Given the description of an element on the screen output the (x, y) to click on. 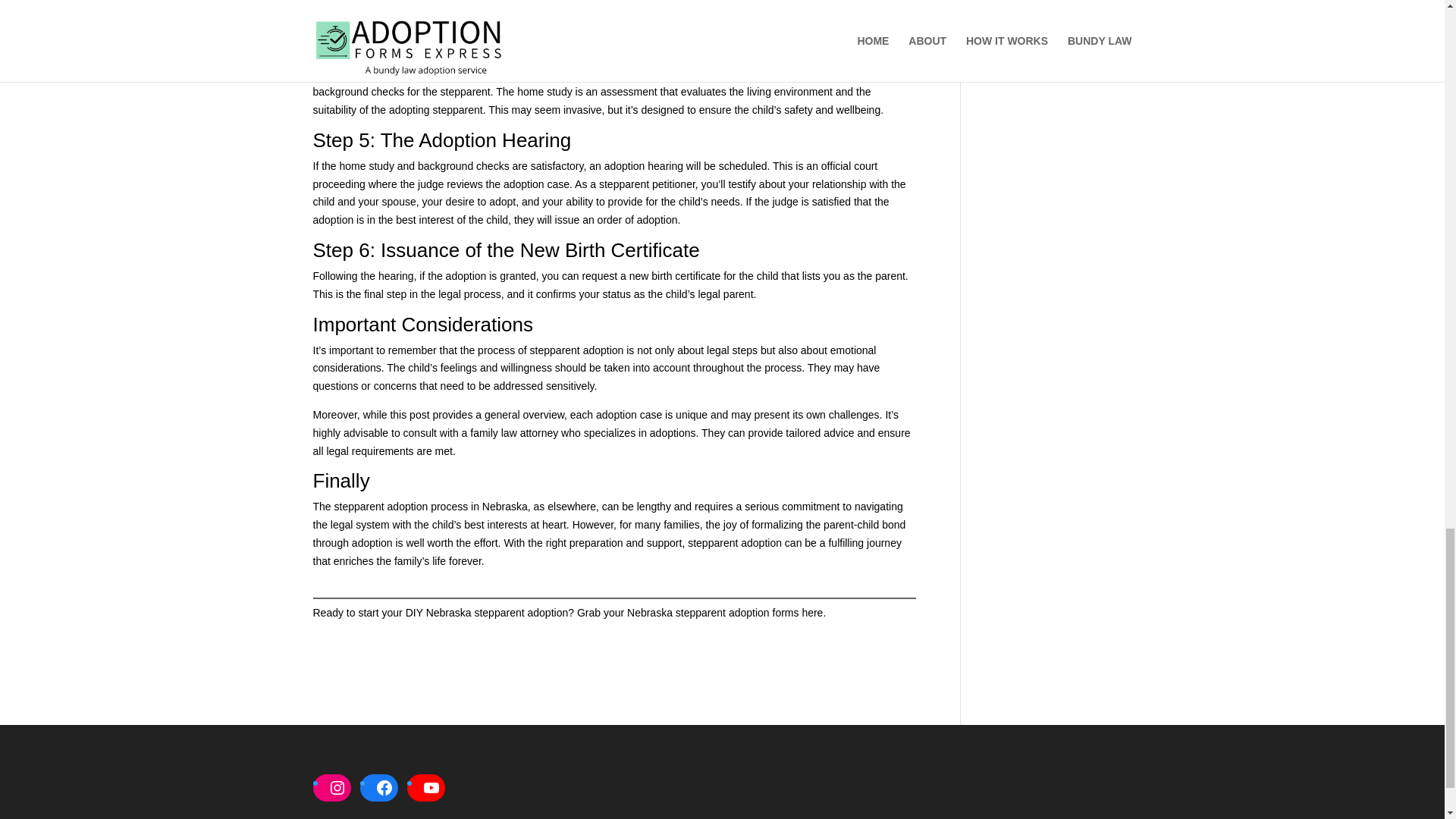
YouTube (430, 787)
Grab your Nebraska stepparent adoption forms here (700, 612)
Instagram (336, 787)
Facebook (383, 787)
